Given the description of an element on the screen output the (x, y) to click on. 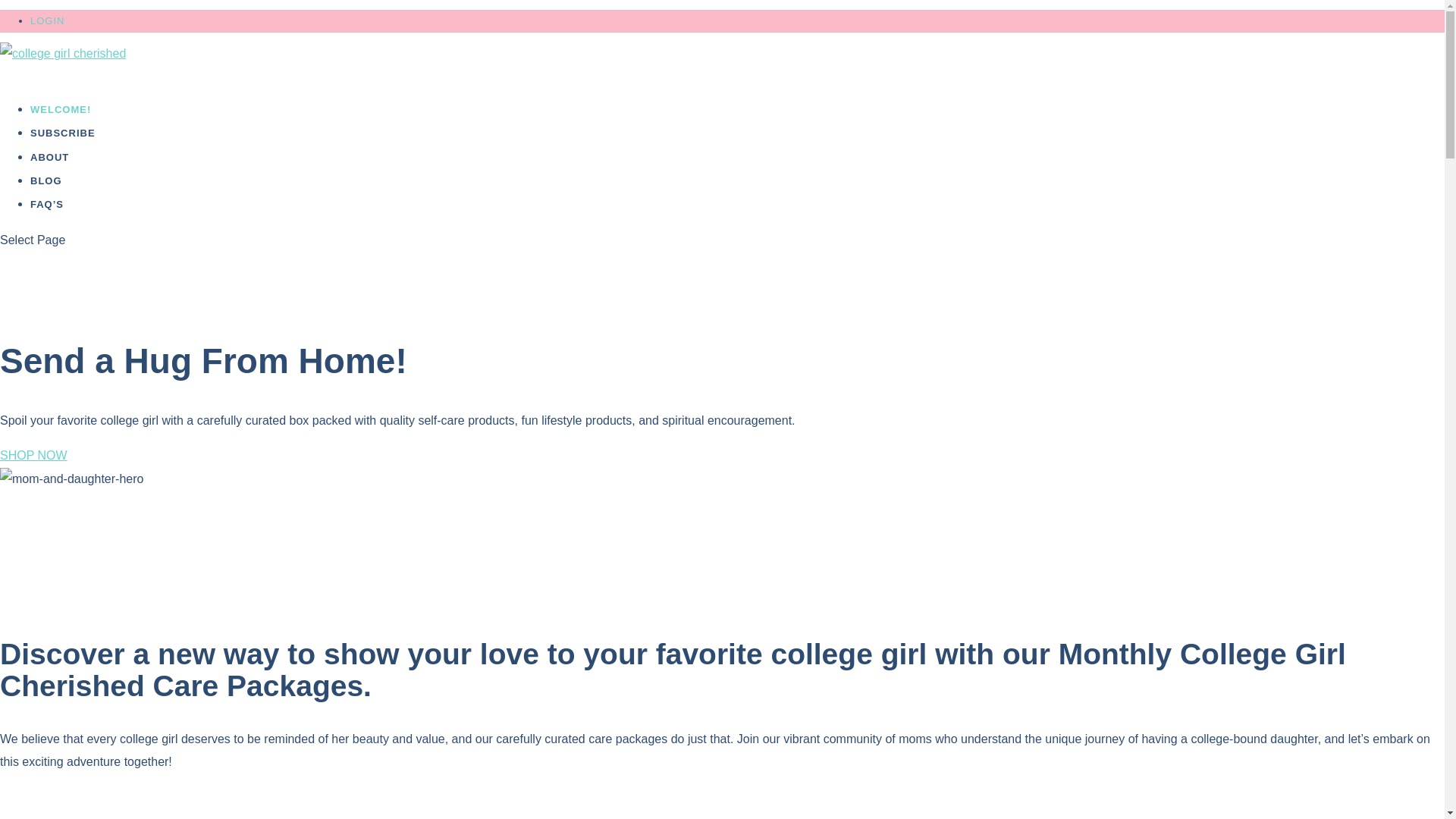
ABOUT (49, 166)
WELCOME! (60, 119)
SHOP NOW (33, 454)
SUBSCRIBE (63, 142)
BLOG (46, 190)
LOGIN (47, 20)
